Given the description of an element on the screen output the (x, y) to click on. 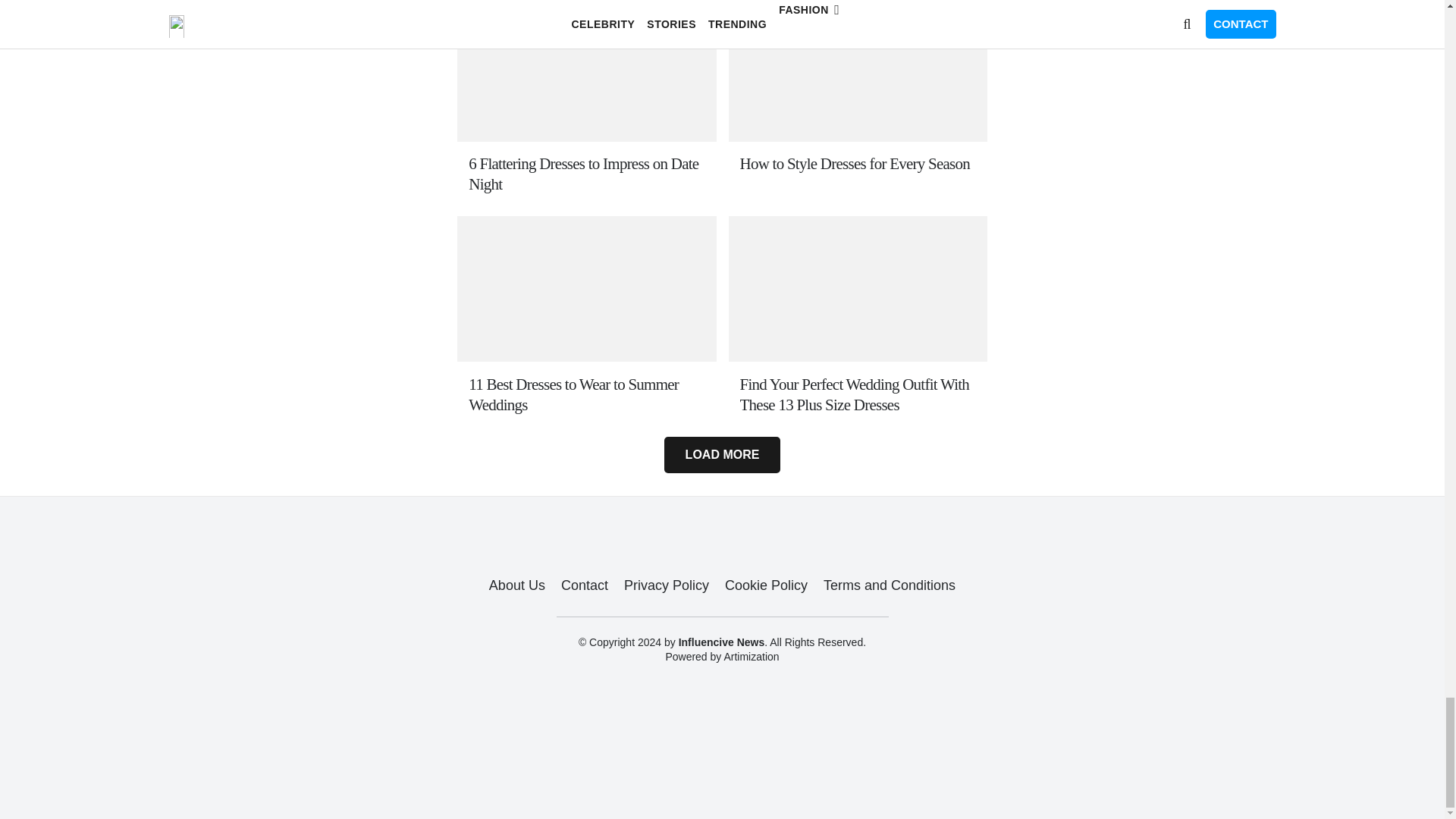
How to Style Dresses for Every Season (857, 163)
Terms and Conditions (889, 585)
Cookie Policy (766, 585)
DMCA.com Protection Status (721, 779)
11 Best Dresses to Wear to Summer Weddings (586, 394)
Artimization (750, 656)
LOAD MORE (720, 454)
Contact (584, 585)
About Us (516, 585)
6 Flattering Dresses to Impress on Date Night (586, 173)
Privacy Policy (666, 585)
